Given the description of an element on the screen output the (x, y) to click on. 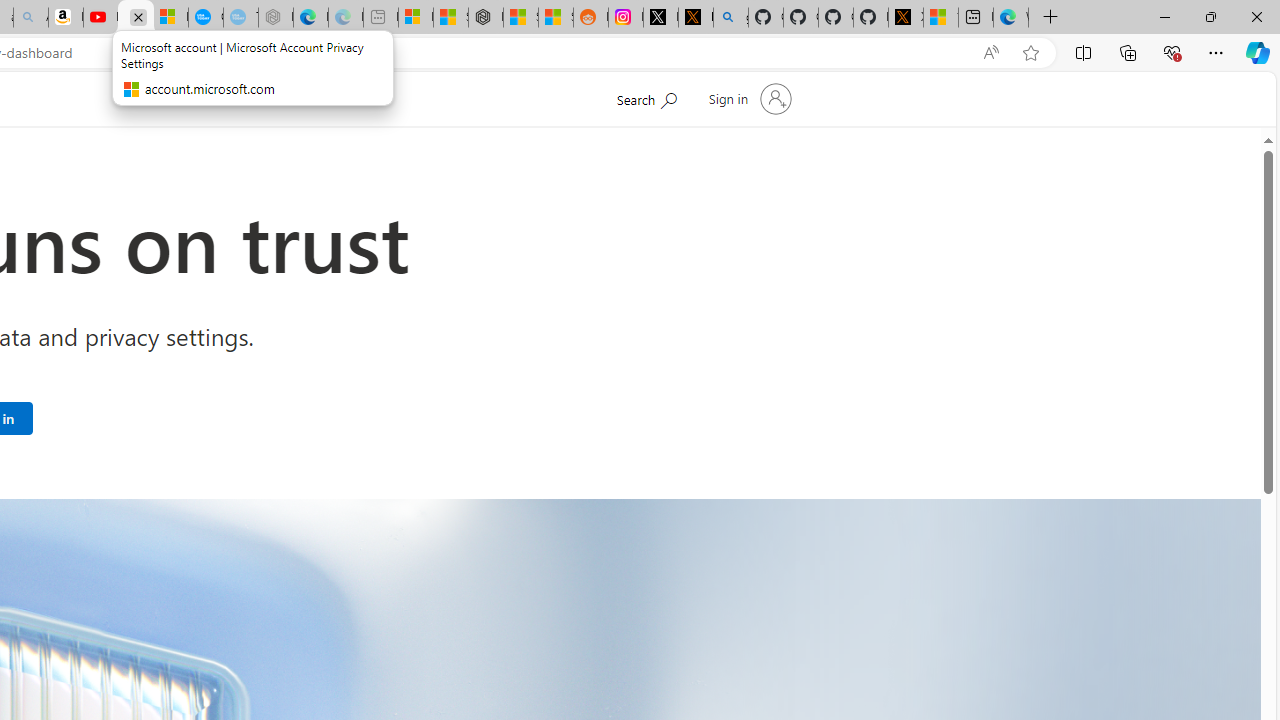
Nordace - Duffels (485, 17)
Search Microsoft.com (646, 97)
Microsoft account | Microsoft Account Privacy Settings (415, 17)
The most popular Google 'how to' searches - Sleeping (241, 17)
help.x.com | 524: A timeout occurred (695, 17)
New tab - Sleeping (380, 17)
